Given the description of an element on the screen output the (x, y) to click on. 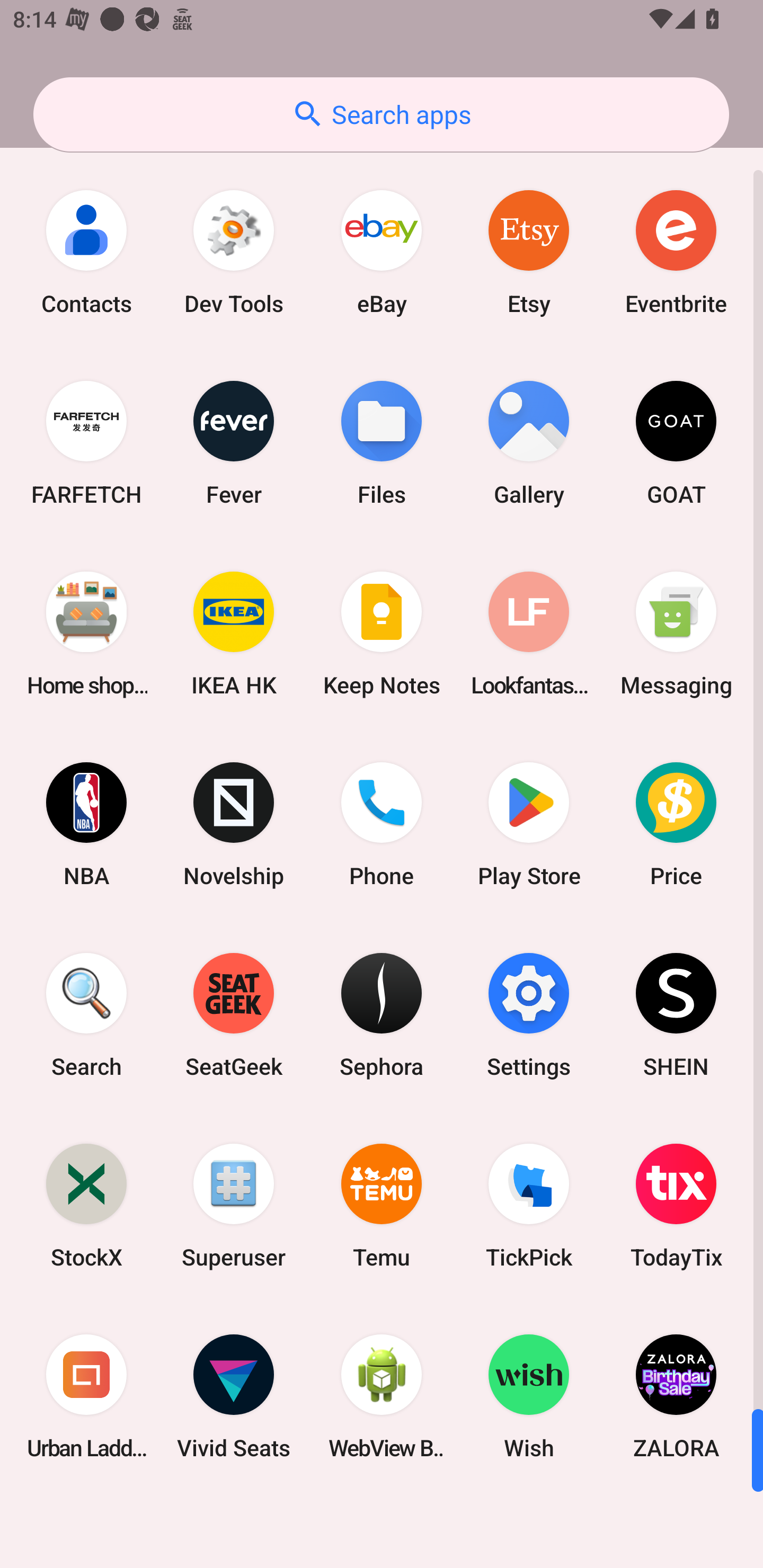
  Search apps (381, 114)
Contacts (86, 252)
Dev Tools (233, 252)
eBay (381, 252)
Etsy (528, 252)
Eventbrite (676, 252)
FARFETCH (86, 442)
Fever (233, 442)
Files (381, 442)
Gallery (528, 442)
GOAT (676, 442)
Home shopping (86, 633)
IKEA HK (233, 633)
Keep Notes (381, 633)
Lookfantastic (528, 633)
Messaging (676, 633)
NBA (86, 823)
Novelship (233, 823)
Phone (381, 823)
Play Store (528, 823)
Price (676, 823)
Search (86, 1014)
SeatGeek (233, 1014)
Sephora (381, 1014)
Settings (528, 1014)
SHEIN (676, 1014)
StockX (86, 1205)
Superuser (233, 1205)
Temu (381, 1205)
TickPick (528, 1205)
TodayTix (676, 1205)
Urban Ladder (86, 1396)
Vivid Seats (233, 1396)
WebView Browser Tester (381, 1396)
Wish (528, 1396)
ZALORA (676, 1396)
